Given the description of an element on the screen output the (x, y) to click on. 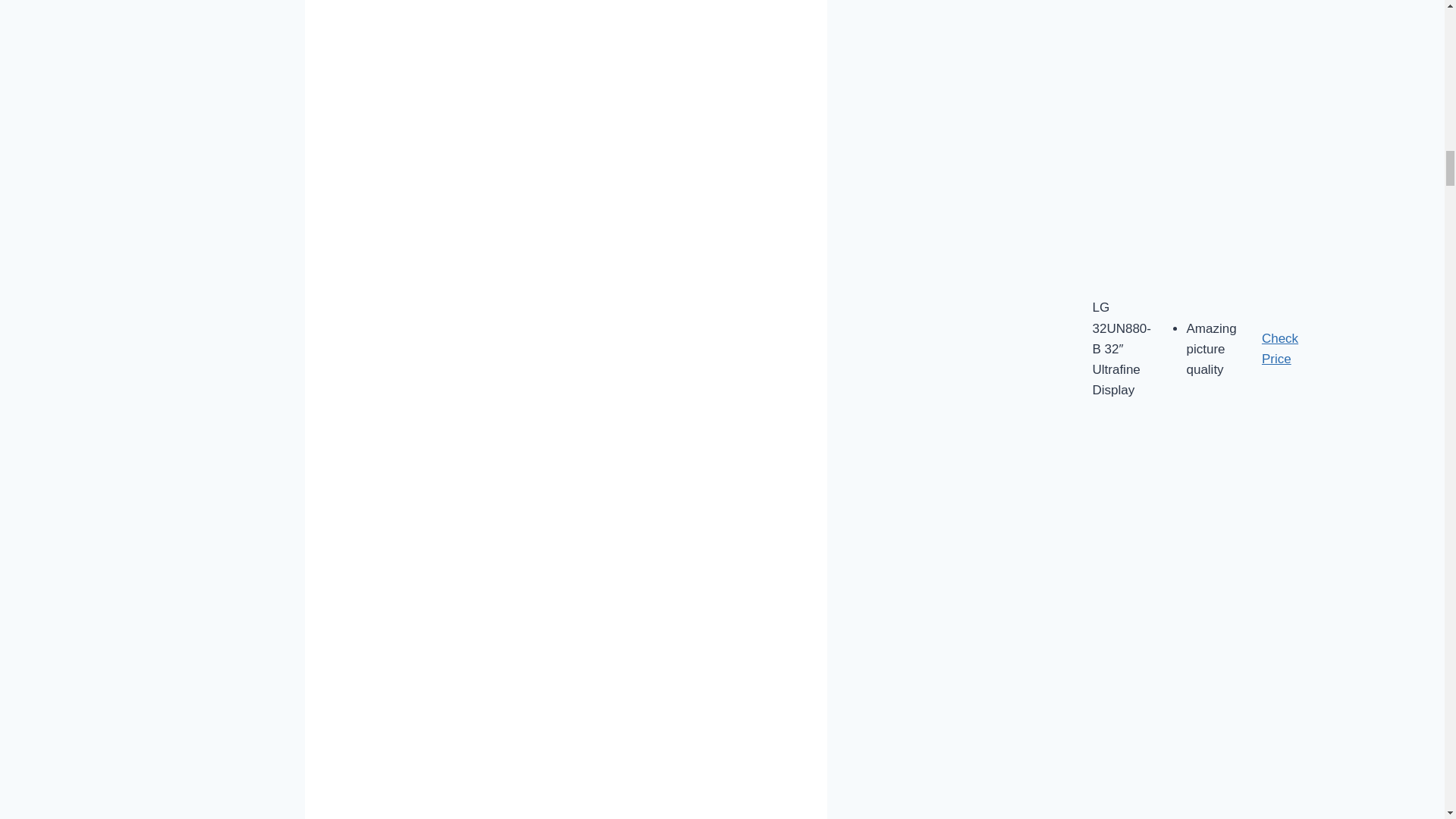
Check Price (1280, 348)
